Given the description of an element on the screen output the (x, y) to click on. 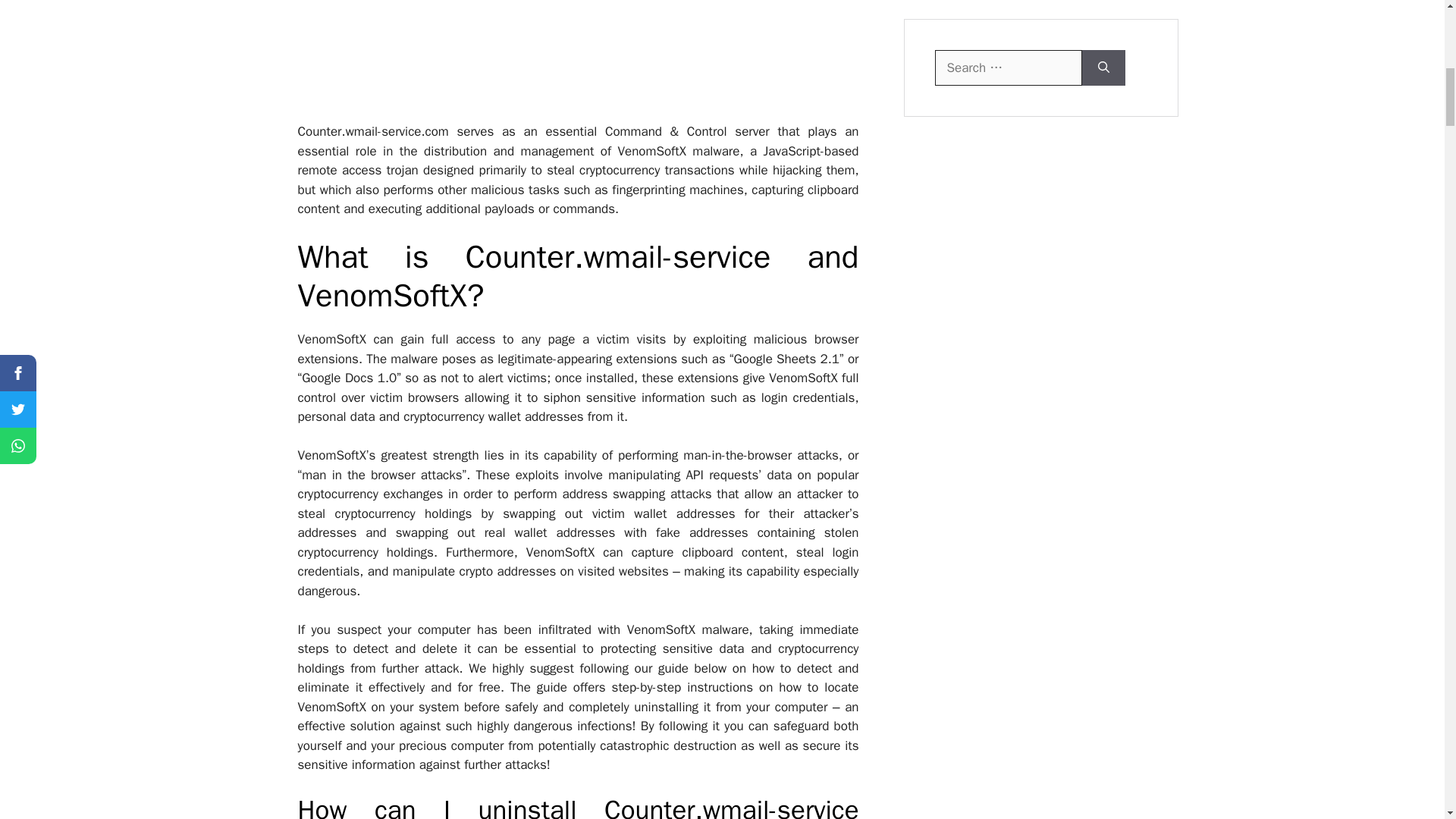
Advertisement (585, 61)
